Given the description of an element on the screen output the (x, y) to click on. 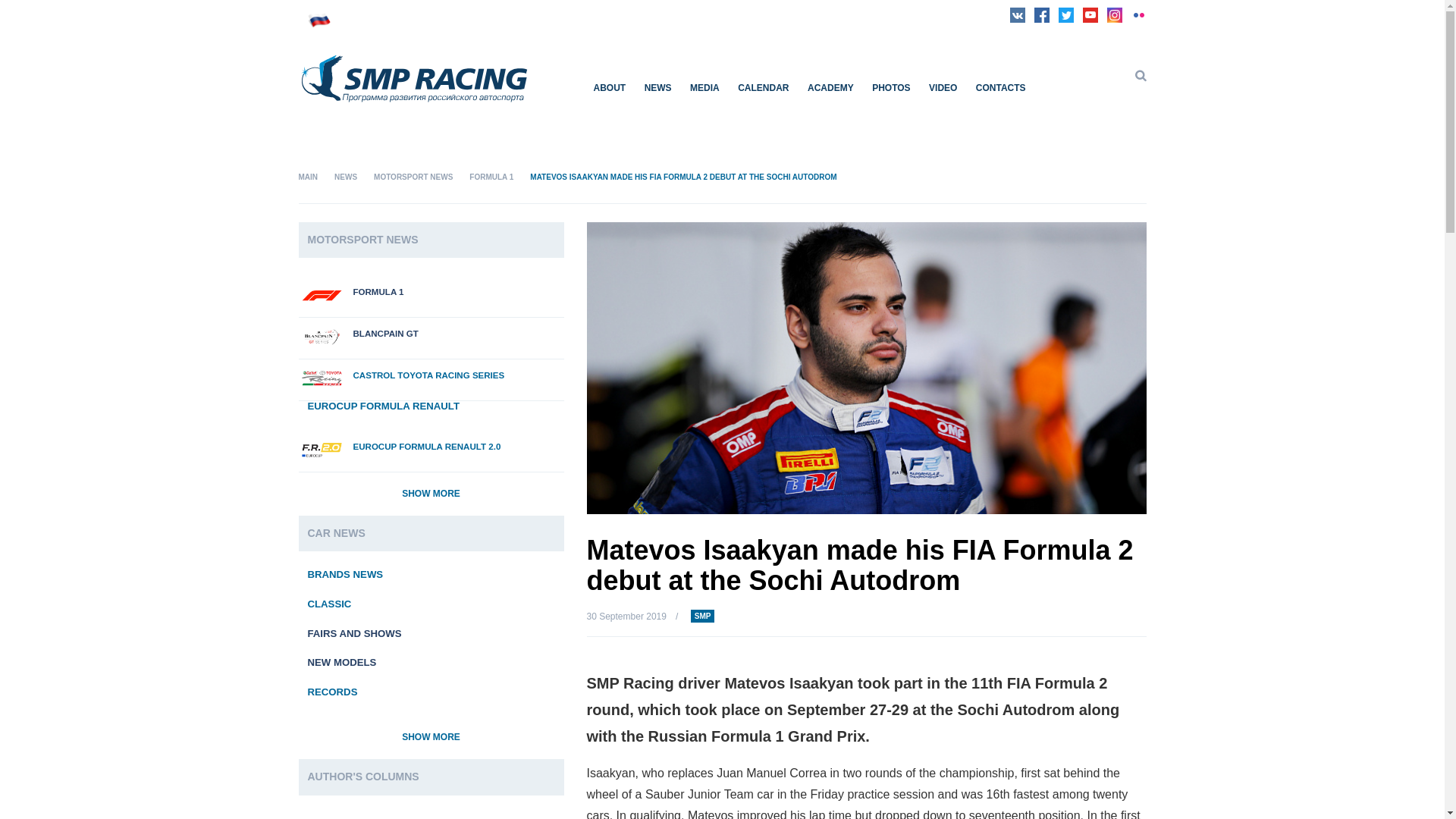
To main page (413, 110)
About (602, 87)
ABOUT (602, 87)
NEWS (649, 87)
